Given the description of an element on the screen output the (x, y) to click on. 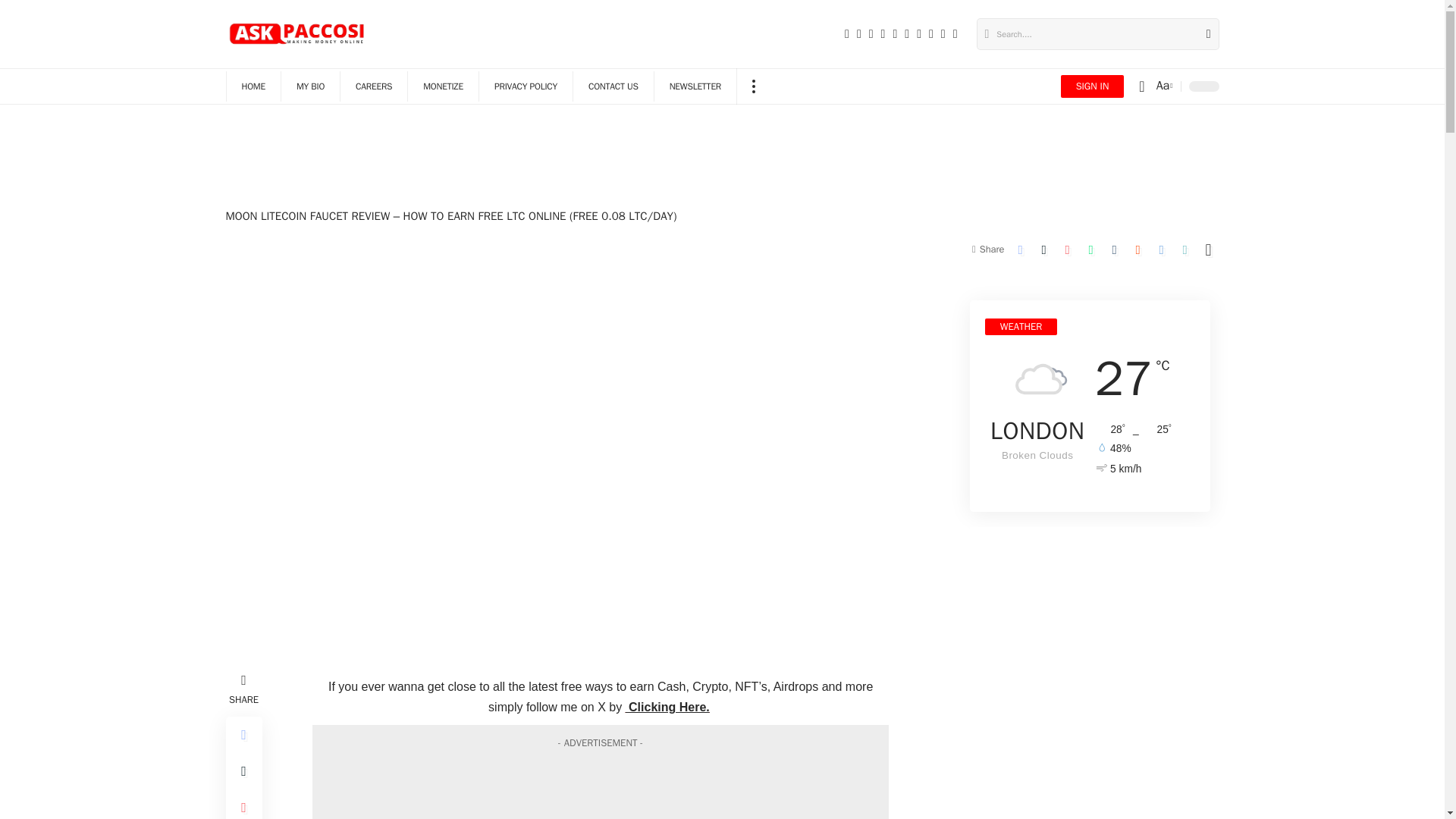
CONTACT US (612, 86)
HOME (253, 86)
SIGN IN (1092, 86)
Search (1202, 33)
AskPaccosi.Com (298, 33)
Aa (1163, 86)
MY BIO (310, 86)
NEWSLETTER (694, 86)
PRIVACY POLICY (525, 86)
CAREERS (373, 86)
MONETIZE (443, 86)
